Given the description of an element on the screen output the (x, y) to click on. 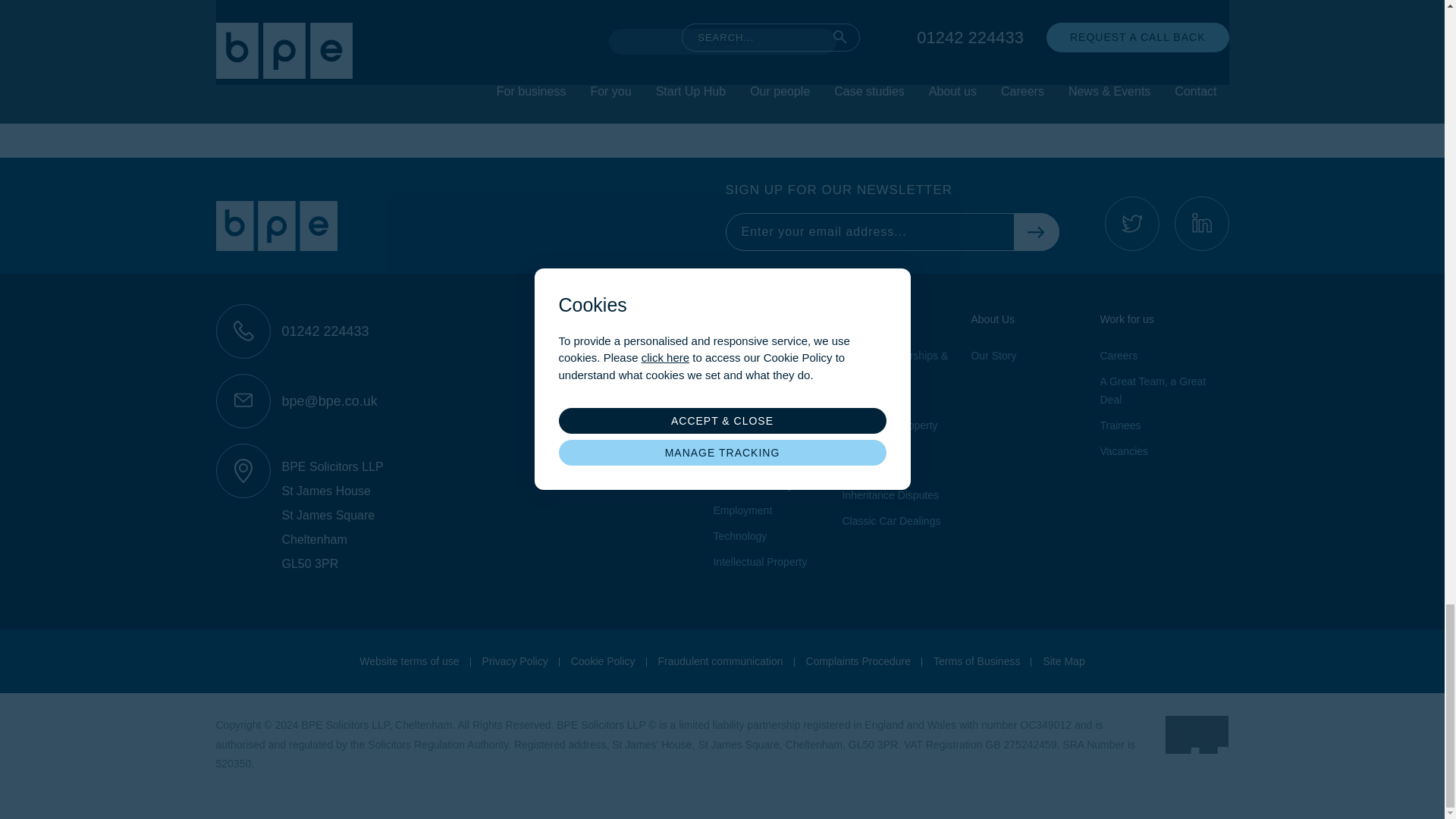
Submit (721, 41)
